Given the description of an element on the screen output the (x, y) to click on. 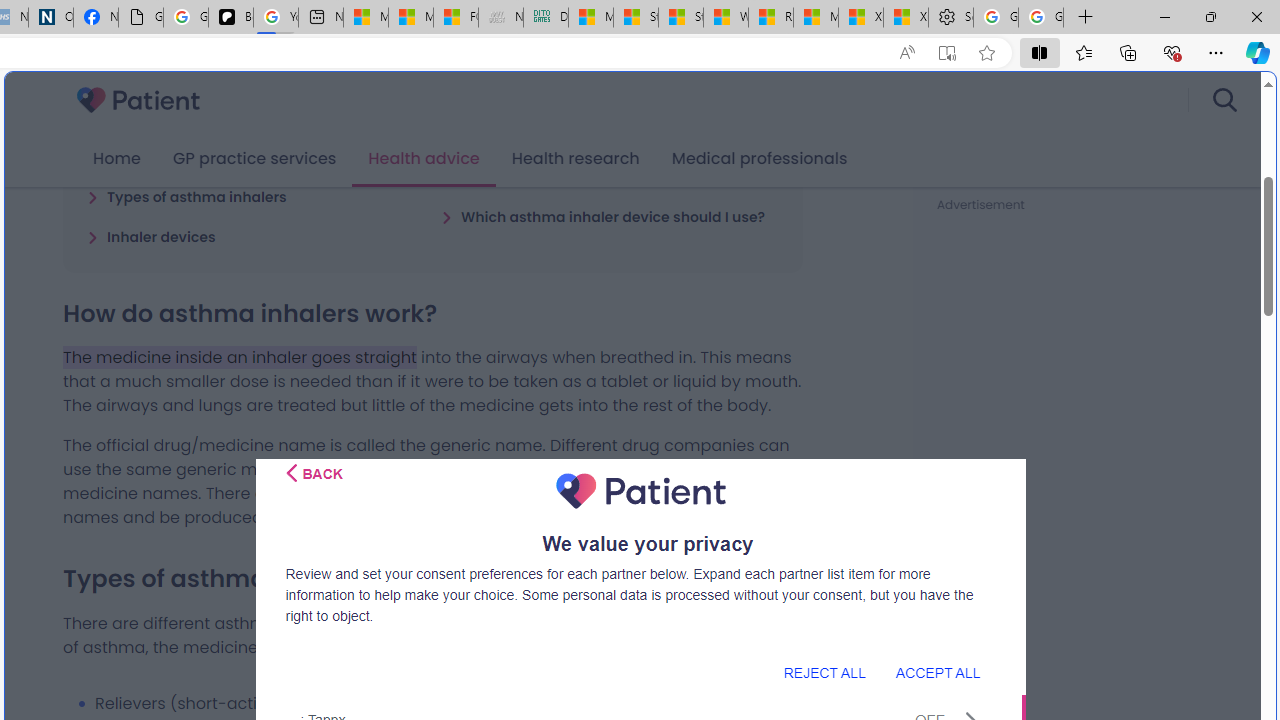
Are there any side-effects from asthma inhalers? (610, 167)
Health advice (424, 159)
Inhaler devices (151, 236)
GP practice services (254, 159)
GP practice services (254, 159)
Health advice (424, 159)
Health research (575, 159)
